Given the description of an element on the screen output the (x, y) to click on. 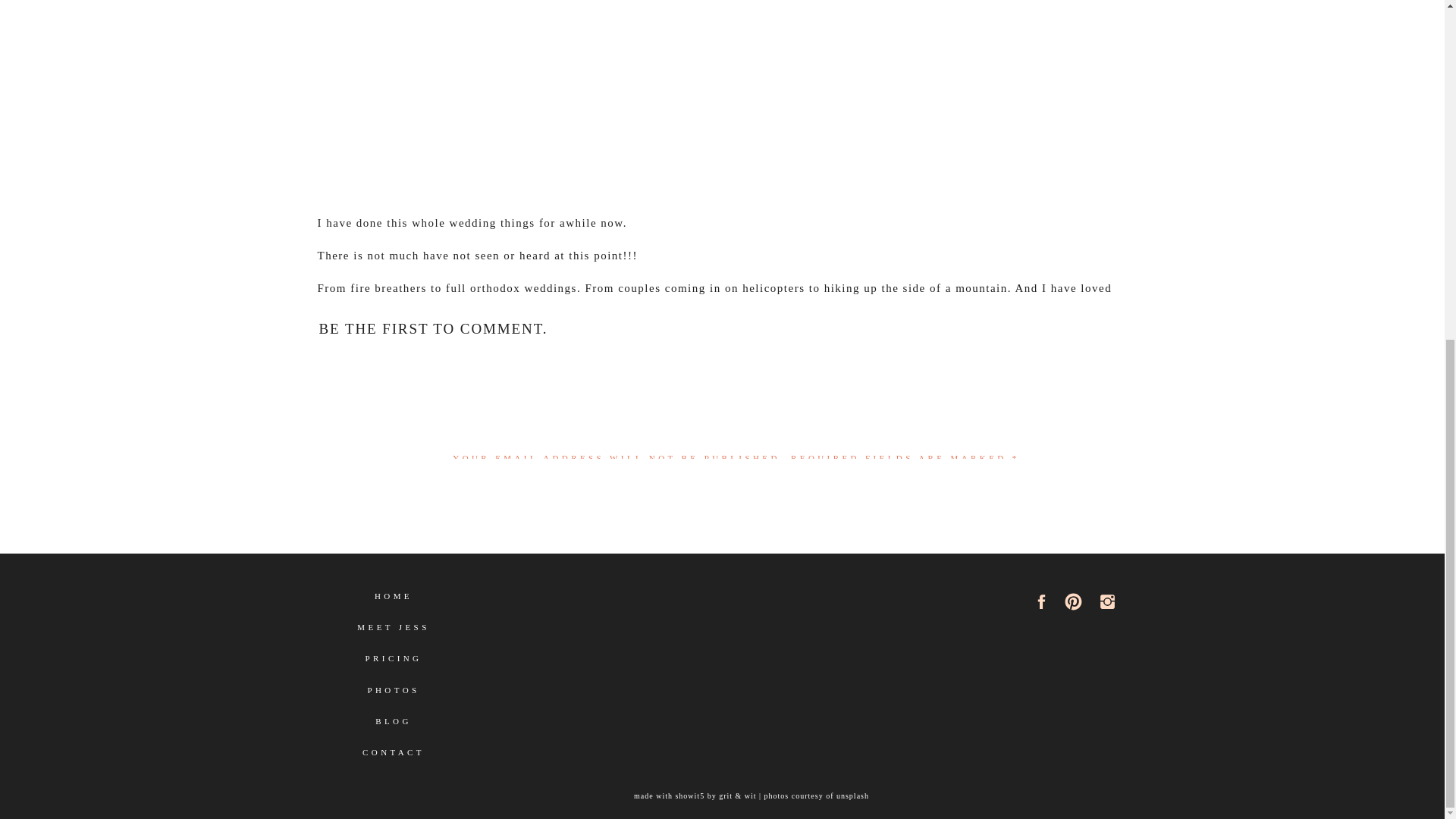
CONTACT (393, 758)
BLOG (393, 727)
Post Comment (735, 776)
Post Comment (735, 776)
PRICING (393, 664)
PHOTOS (393, 696)
BE THE FIRST TO COMMENT. (432, 328)
HOME (393, 601)
MEET JESS (392, 633)
